Given the description of an element on the screen output the (x, y) to click on. 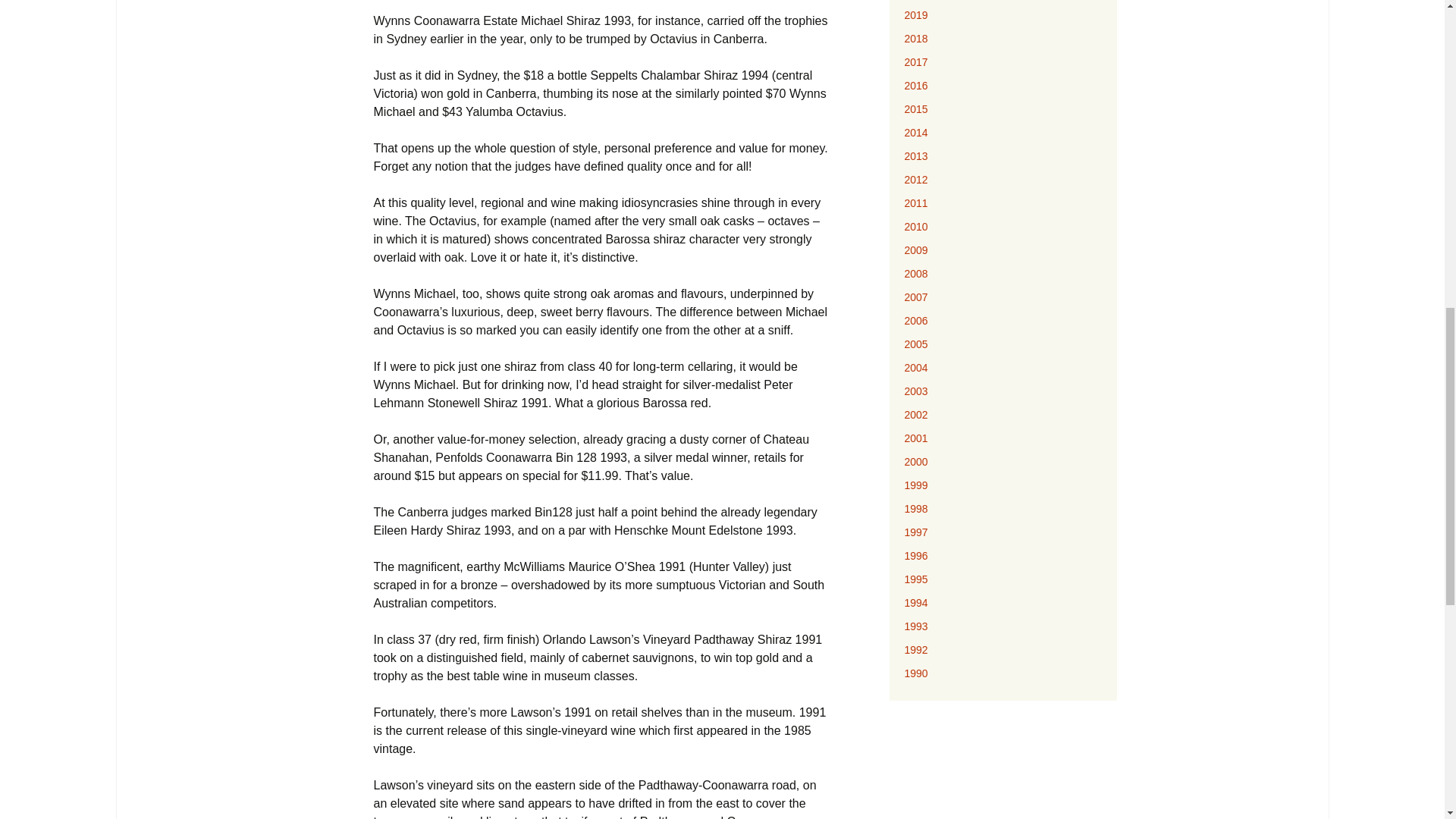
2014 (915, 132)
2019 (915, 15)
2018 (915, 38)
2015 (915, 109)
2016 (915, 85)
2017 (915, 61)
